Given the description of an element on the screen output the (x, y) to click on. 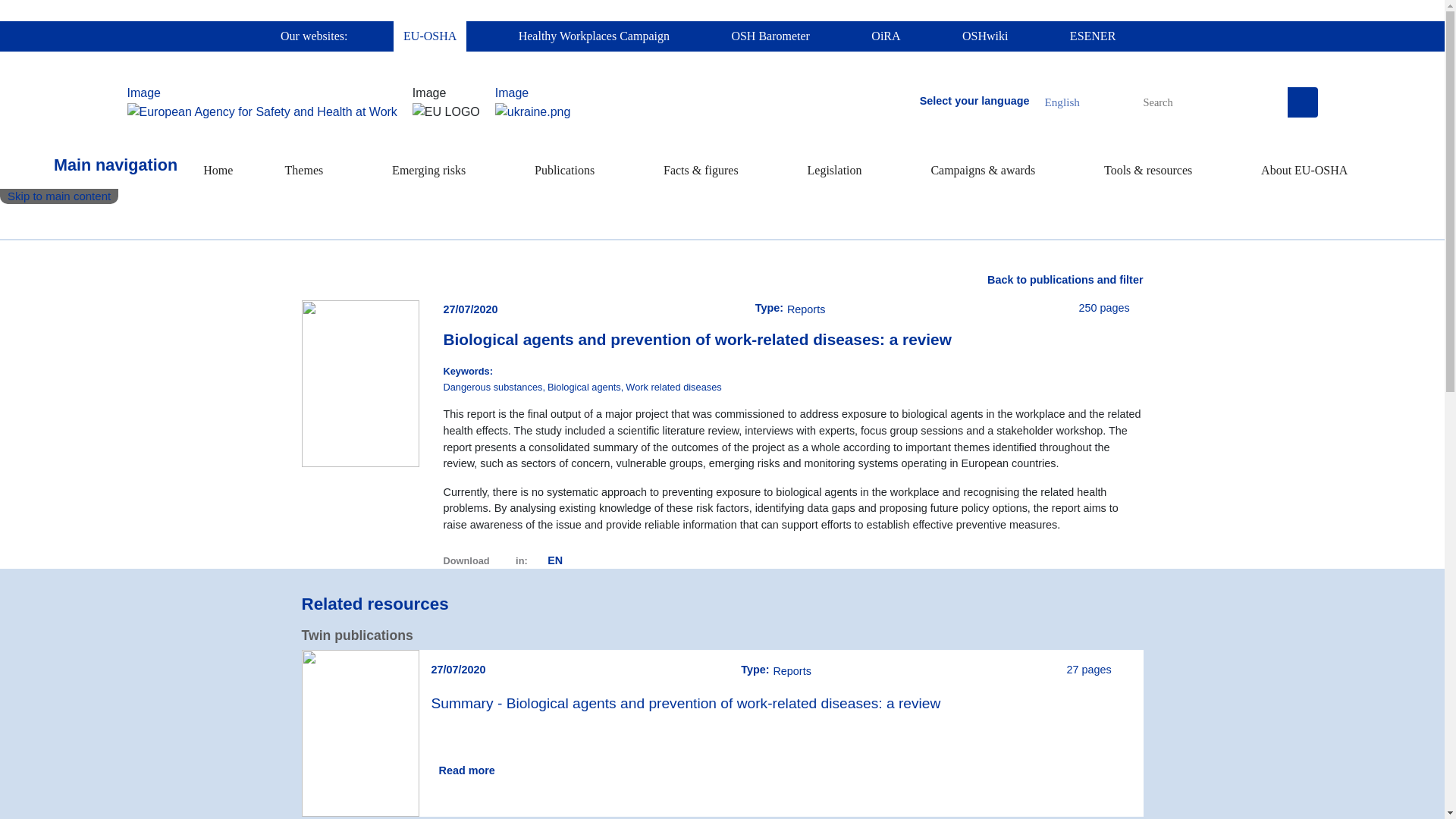
Themes (303, 170)
OSH Barometer (770, 36)
Home (217, 170)
Image (540, 93)
Search (1302, 101)
OiRA (886, 36)
Skip to main content (58, 196)
EU-OSHA corporate website (262, 93)
ESENER (1092, 36)
Image (262, 93)
Access to Home page (217, 170)
EU-OSHA (429, 36)
Healthy Workplaces Campaign (593, 36)
OSHwiki (984, 36)
